Given the description of an element on the screen output the (x, y) to click on. 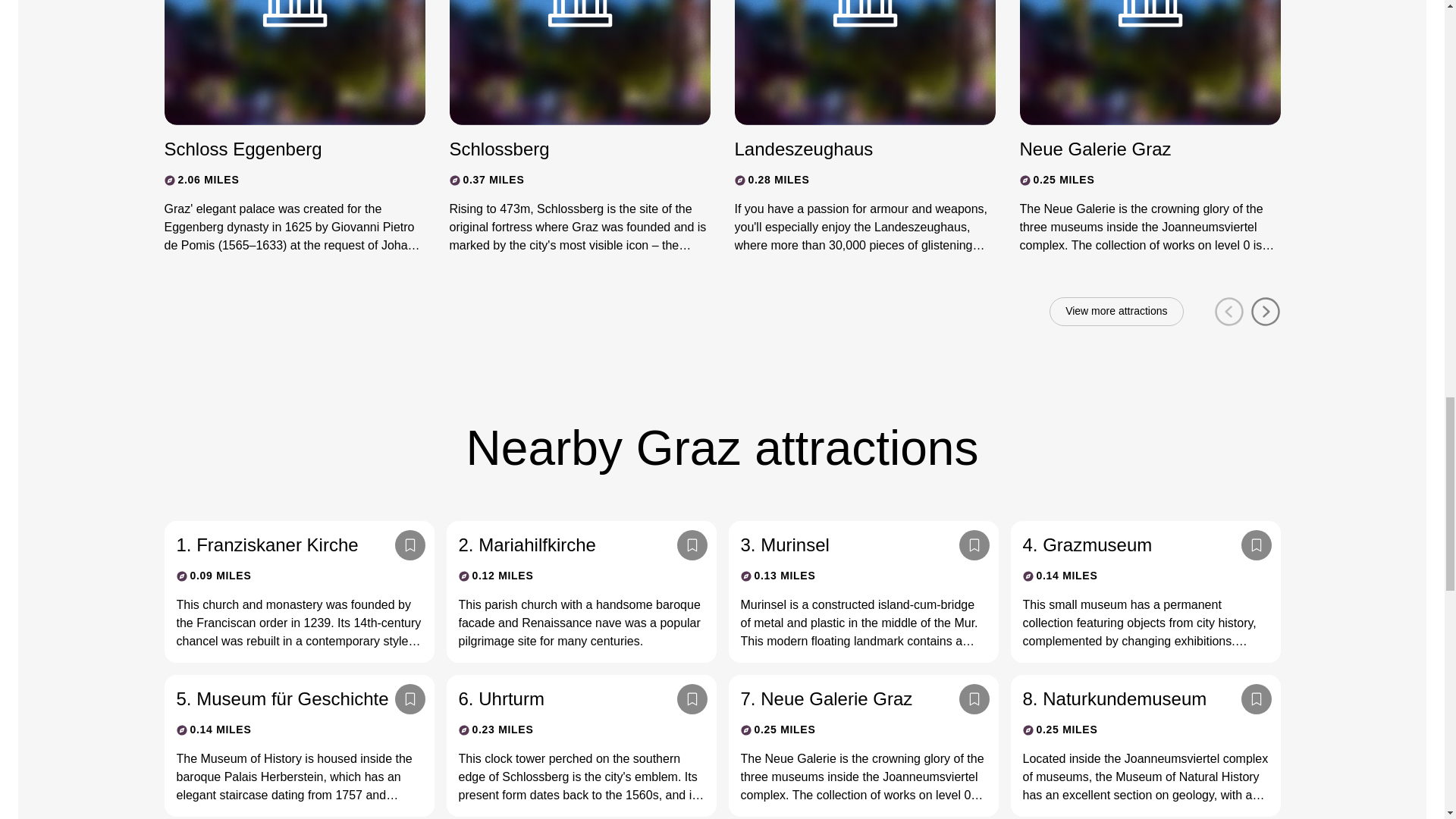
Schlossberg (566, 148)
Landeszeughaus (851, 148)
Schloss Eggenberg (280, 148)
Neue Galerie Graz (1136, 148)
